Given the description of an element on the screen output the (x, y) to click on. 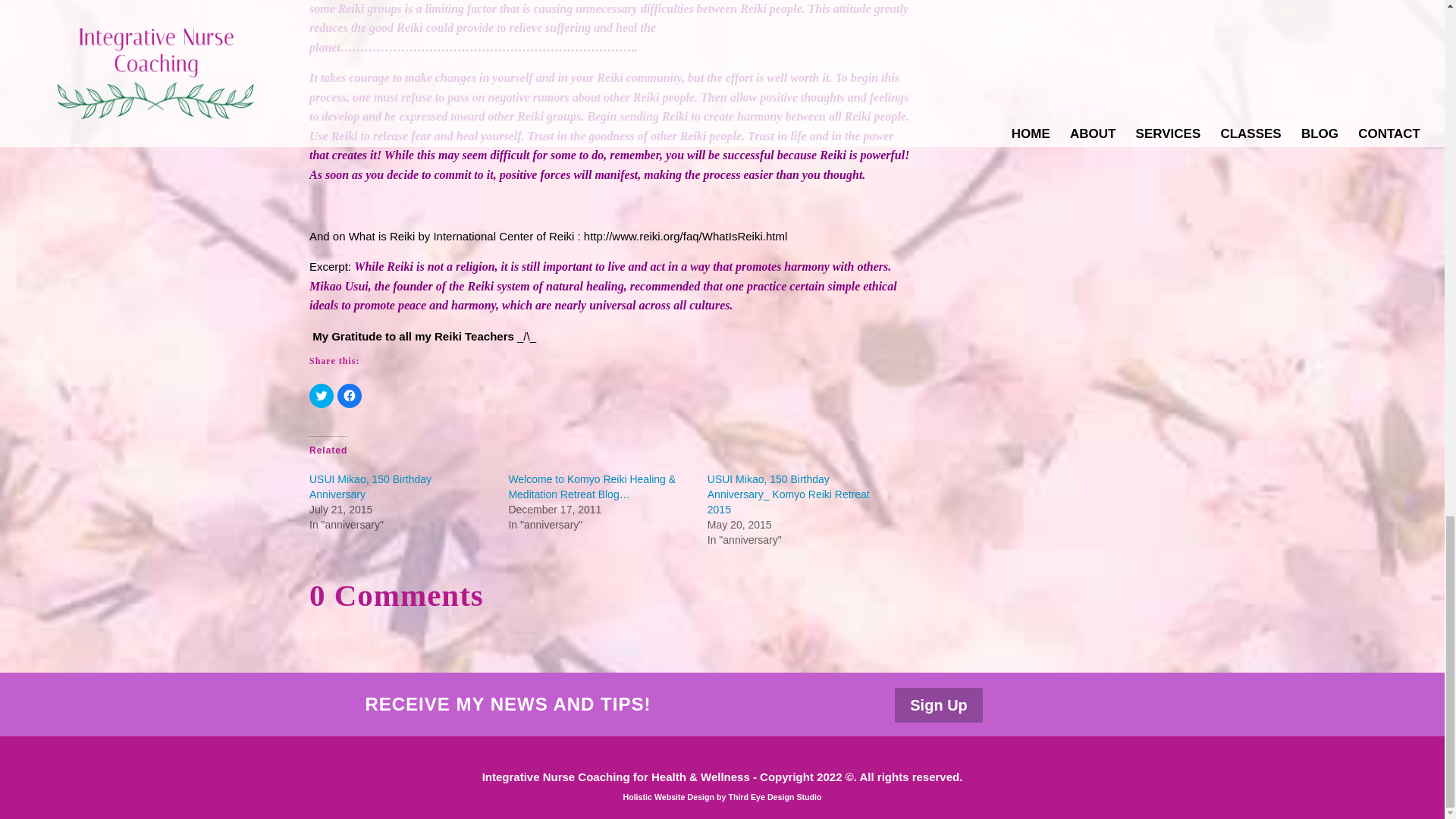
Click to share on Facebook (349, 395)
USUI Mikao, 150 Birthday Anniversary (369, 486)
Holistic Website Design by Third Eye Design Studio (722, 796)
Sign Up (938, 704)
Mikao Usui (338, 286)
Click to share on Twitter (320, 395)
USUI Mikao, 150 Birthday Anniversary (369, 486)
